Given the description of an element on the screen output the (x, y) to click on. 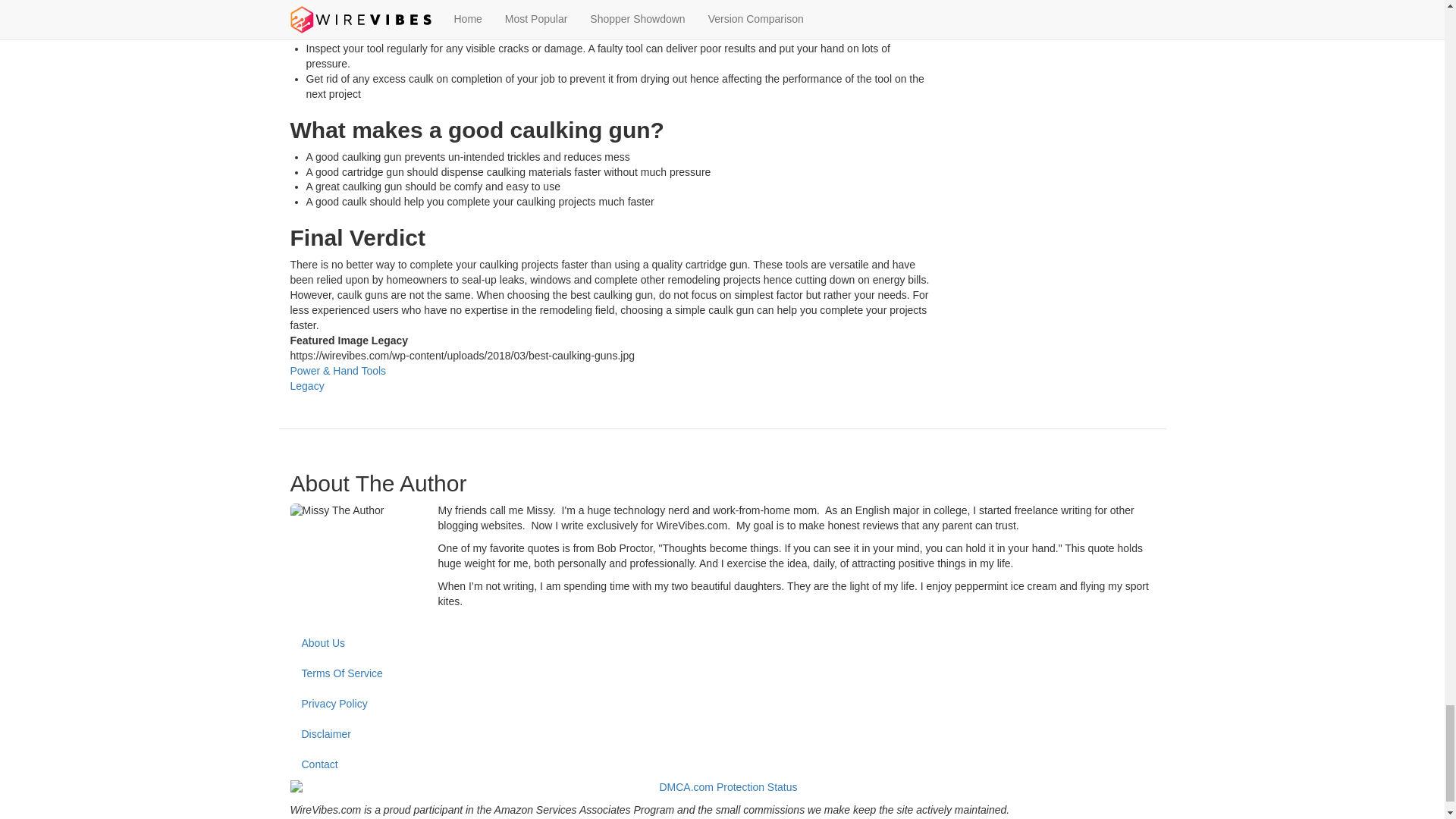
Privacy Policy (721, 704)
Disclaimer (721, 734)
About Us (721, 643)
Terms Of Service (721, 674)
